Given the description of an element on the screen output the (x, y) to click on. 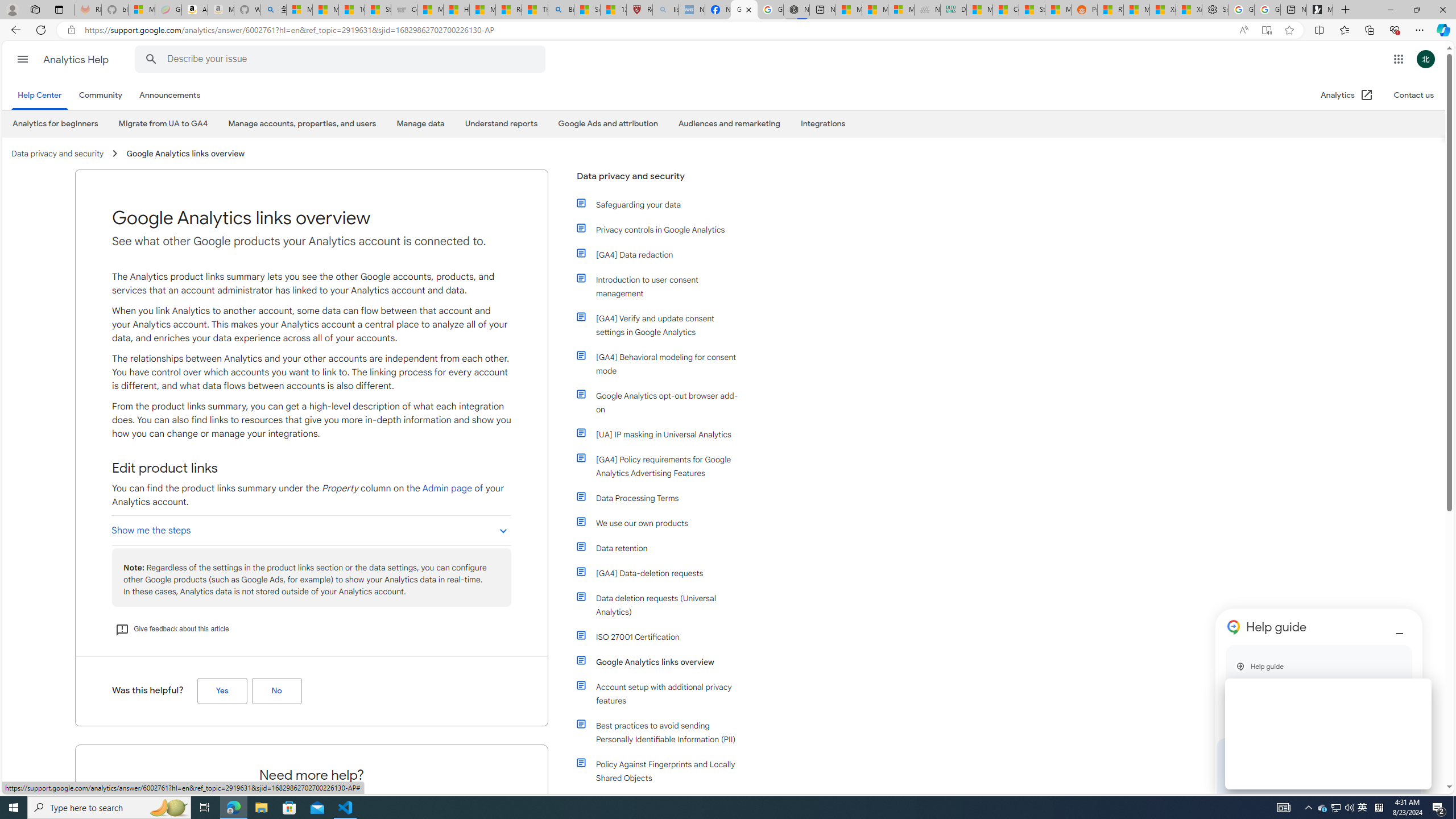
Policy Against Fingerprints and Locally Shared Objects (664, 770)
Introduction to user consent management (664, 286)
Community (100, 94)
Integrations (822, 123)
Help Center (41, 95)
ISO 27001 Certification (664, 636)
[GA4] Verify and update consent settings in Google Analytics (658, 325)
MSNBC - MSN (979, 9)
Understand reports (500, 123)
12 Popular Science Lies that Must be Corrected (613, 9)
Google Ads and attribution (607, 123)
Data controls in Universal Analytics (664, 802)
